Given the description of an element on the screen output the (x, y) to click on. 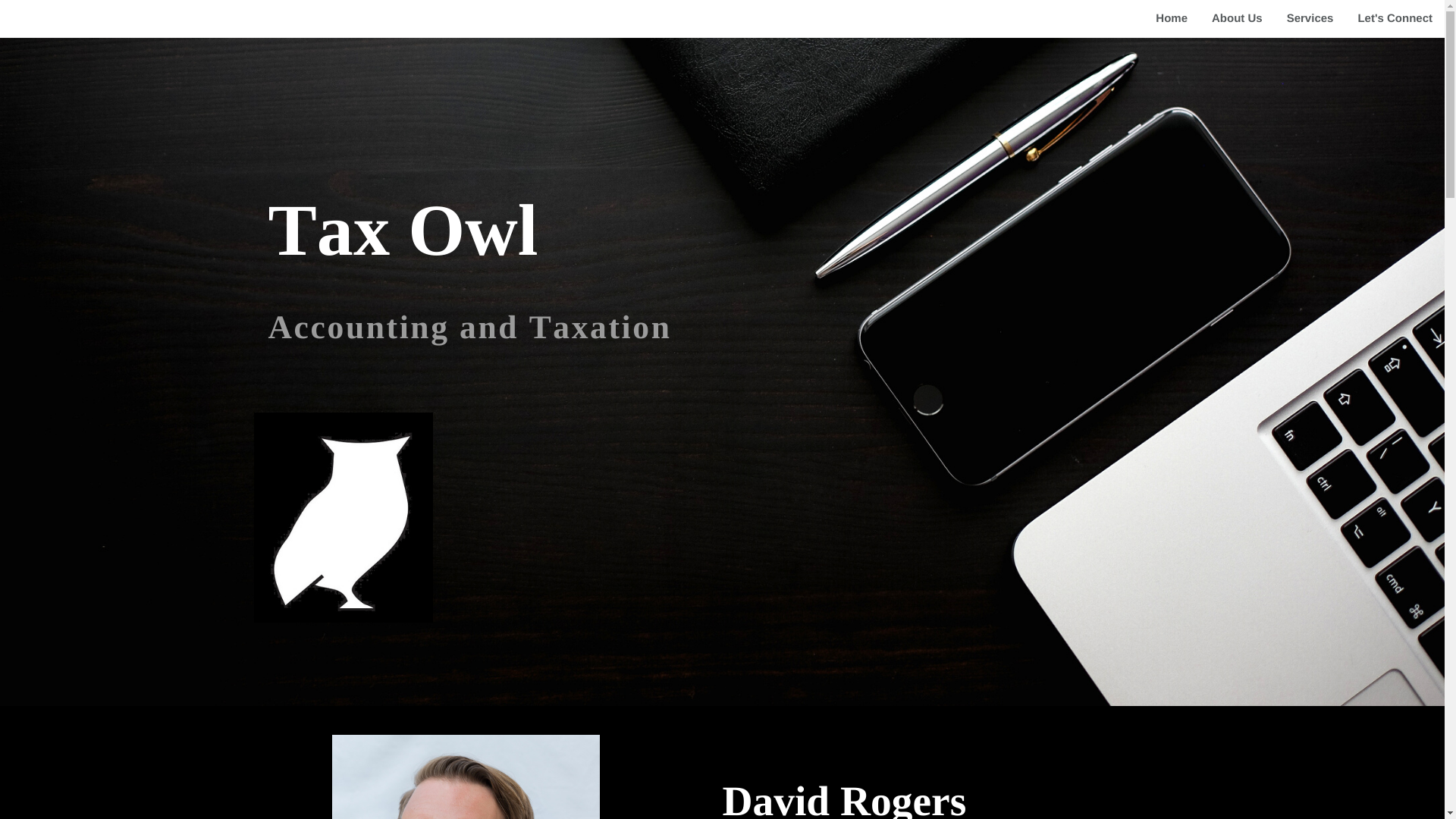
Services (1310, 18)
About Us (1237, 18)
Home (1170, 18)
